Given the description of an element on the screen output the (x, y) to click on. 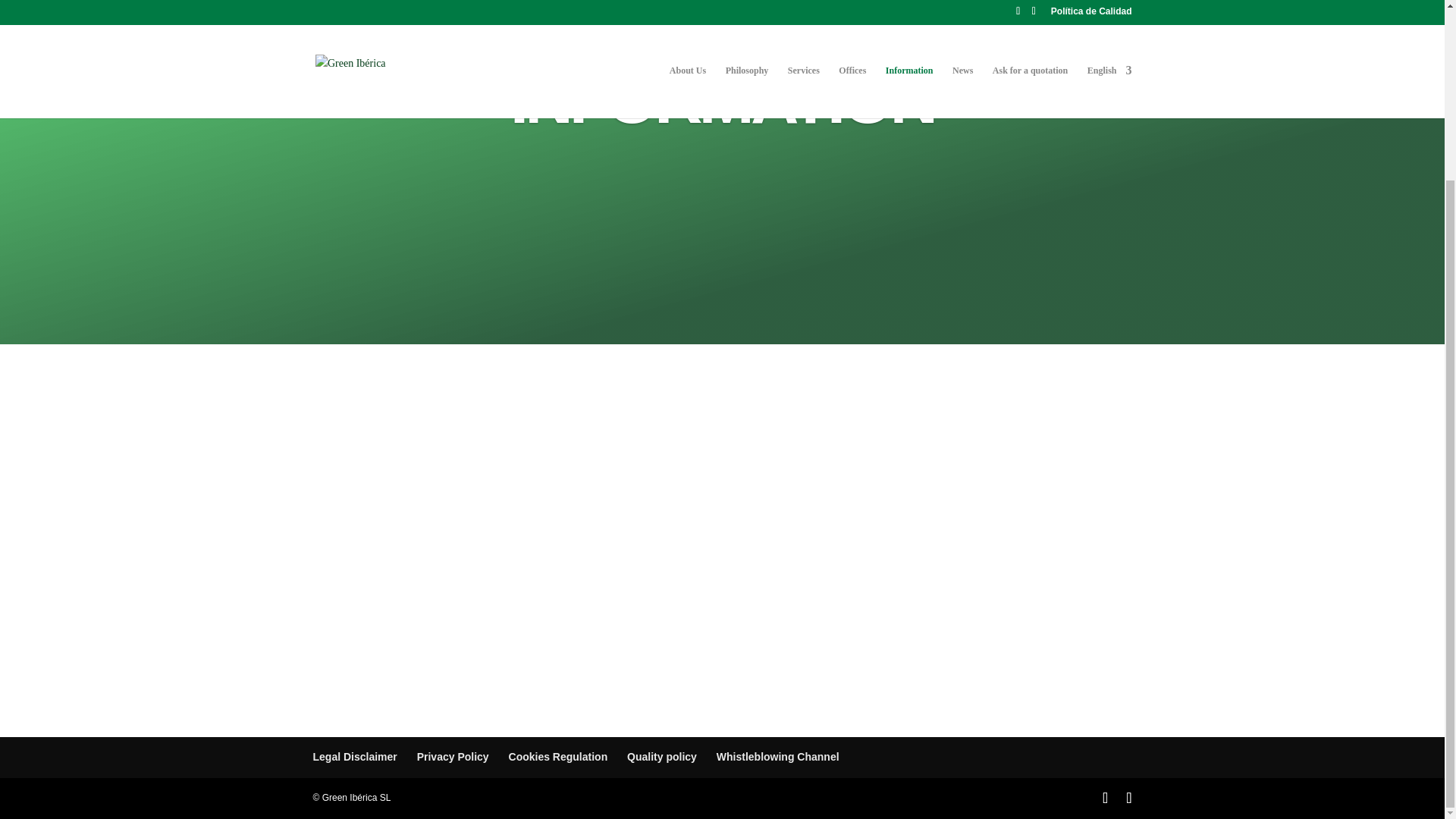
Cookies Regulation (558, 756)
Quality policy (662, 756)
Legal Disclaimer (354, 756)
Whistleblowing Channel (778, 756)
Privacy Policy (452, 756)
